Given the description of an element on the screen output the (x, y) to click on. 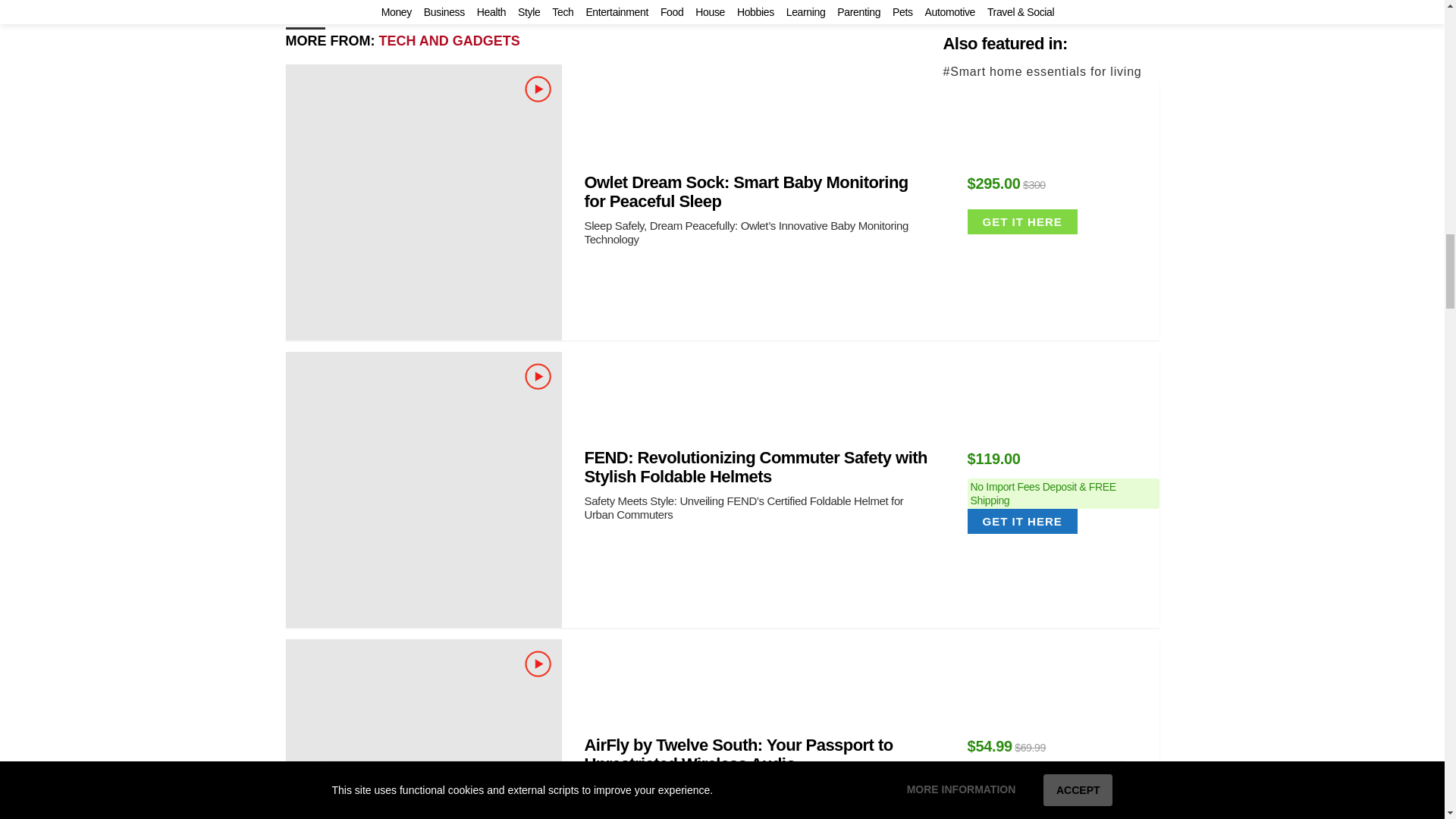
Owlet Dream Sock: Smart Baby Monitoring for Peaceful Sleep (422, 202)
